Given the description of an element on the screen output the (x, y) to click on. 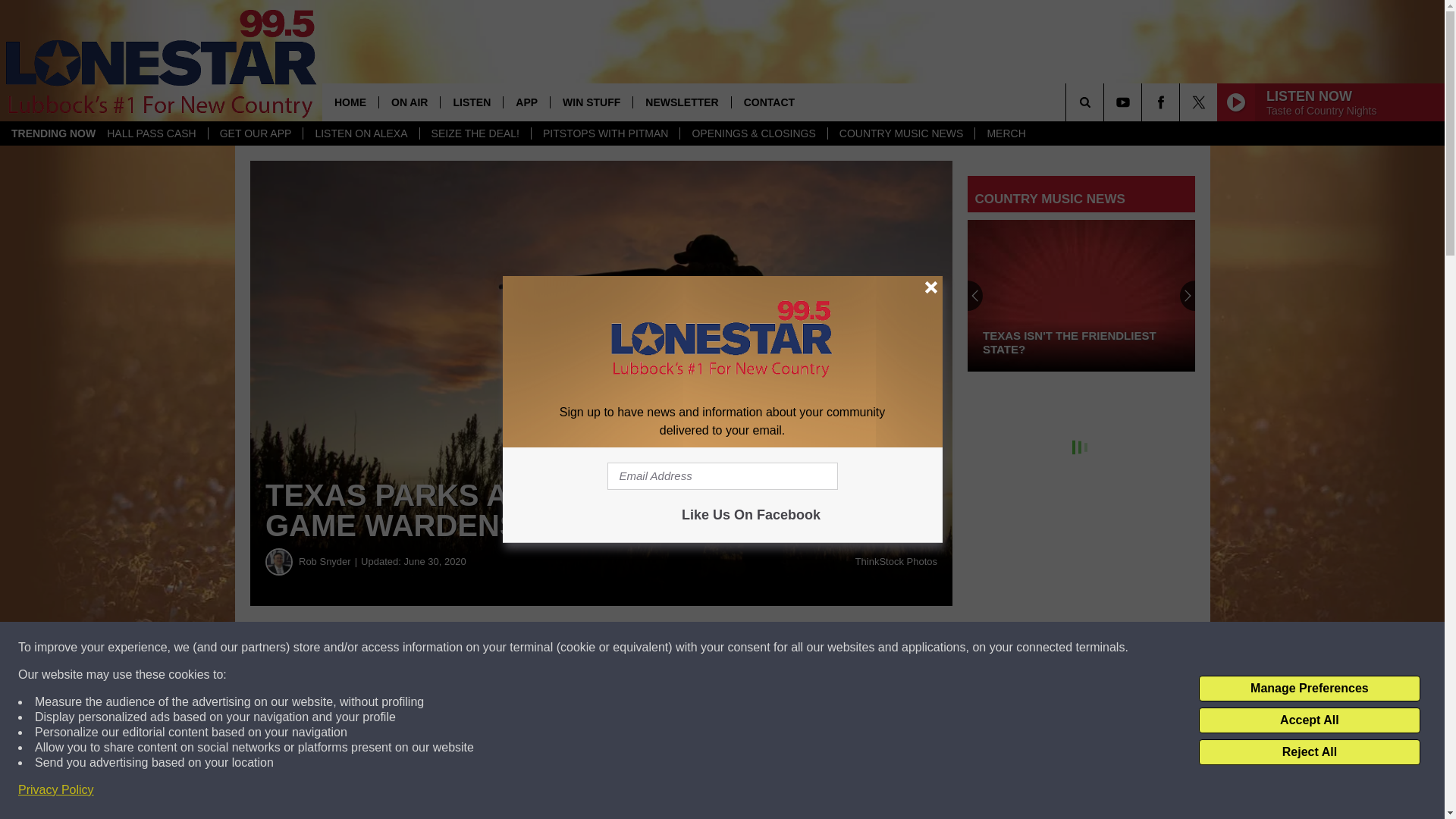
SEIZE THE DEAL! (475, 133)
HOME (349, 102)
PITSTOPS WITH PITMAN (605, 133)
Accept All (1309, 720)
APP (526, 102)
Email Address (722, 475)
HALL PASS CASH (152, 133)
LISTEN ON ALEXA (360, 133)
ON AIR (408, 102)
WIN STUFF (590, 102)
COUNTRY MUSIC NEWS (901, 133)
Privacy Policy (55, 789)
Share on Twitter (741, 647)
SEARCH (1106, 102)
LISTEN (470, 102)
